Given the description of an element on the screen output the (x, y) to click on. 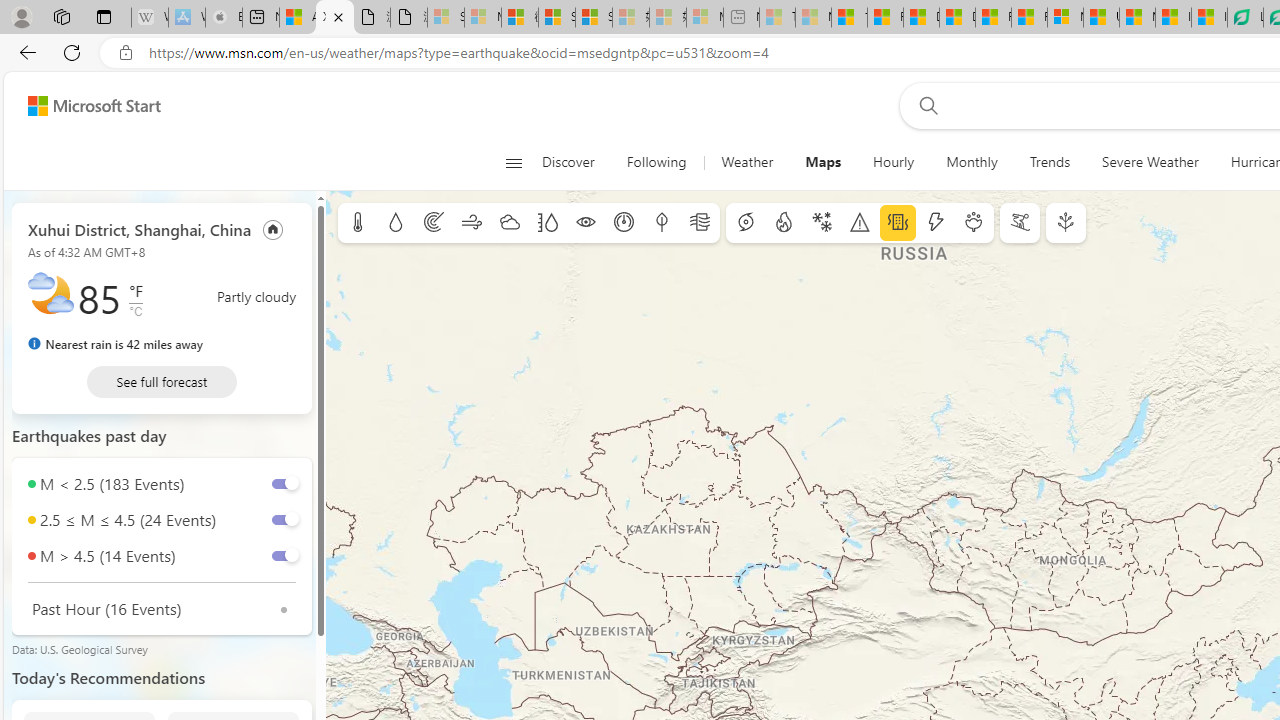
Weather (747, 162)
Foo BAR | Trusted Community Engagement and Contributions (1029, 17)
Wikipedia - Sleeping (149, 17)
Monthly (971, 162)
Pollen (974, 223)
Hourly (893, 162)
Hourly (893, 162)
Weather (747, 162)
Buy iPad - Apple - Sleeping (223, 17)
